Given the description of an element on the screen output the (x, y) to click on. 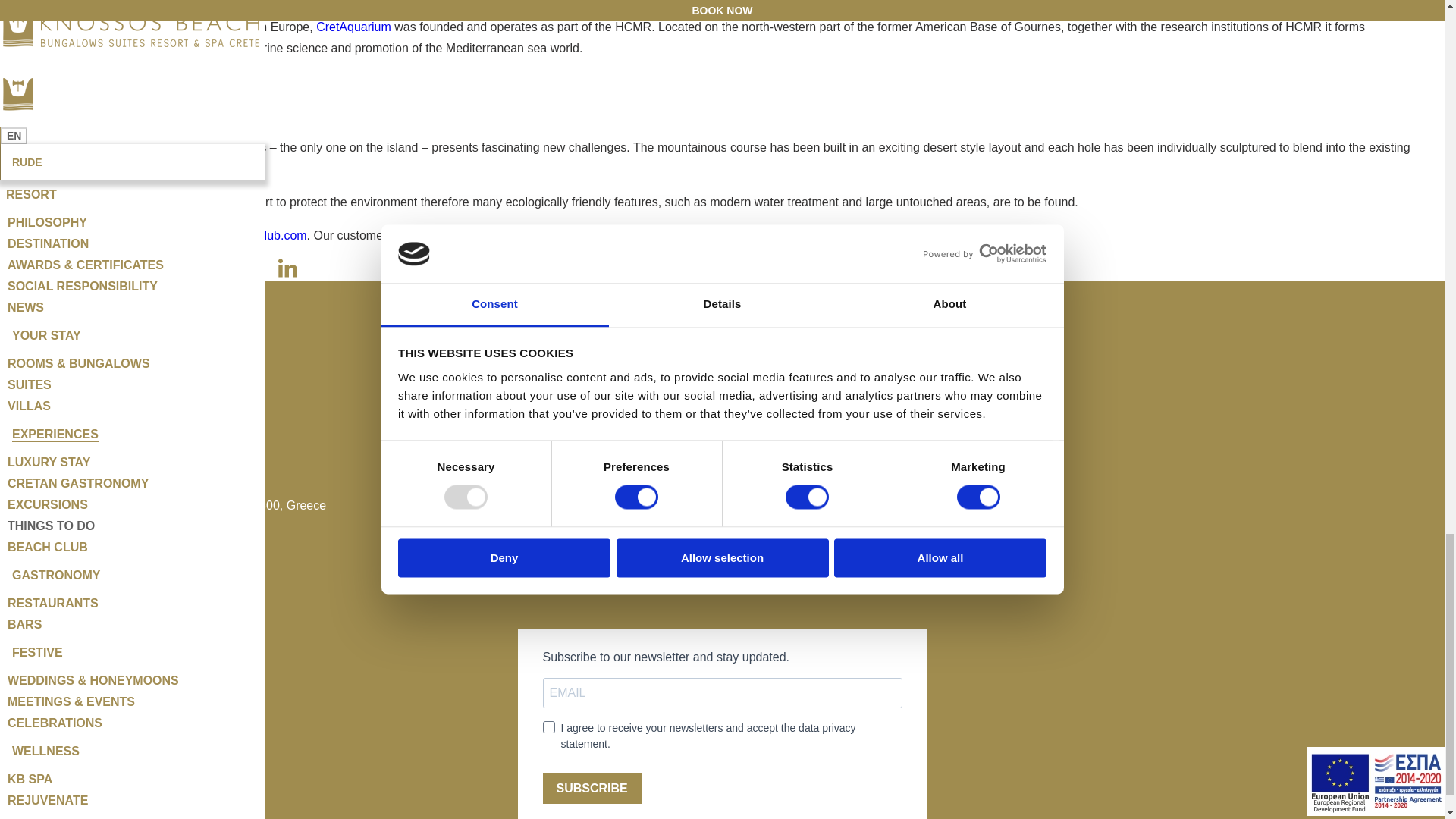
Crete Golf (73, 146)
Cretaquarium (353, 26)
